Given the description of an element on the screen output the (x, y) to click on. 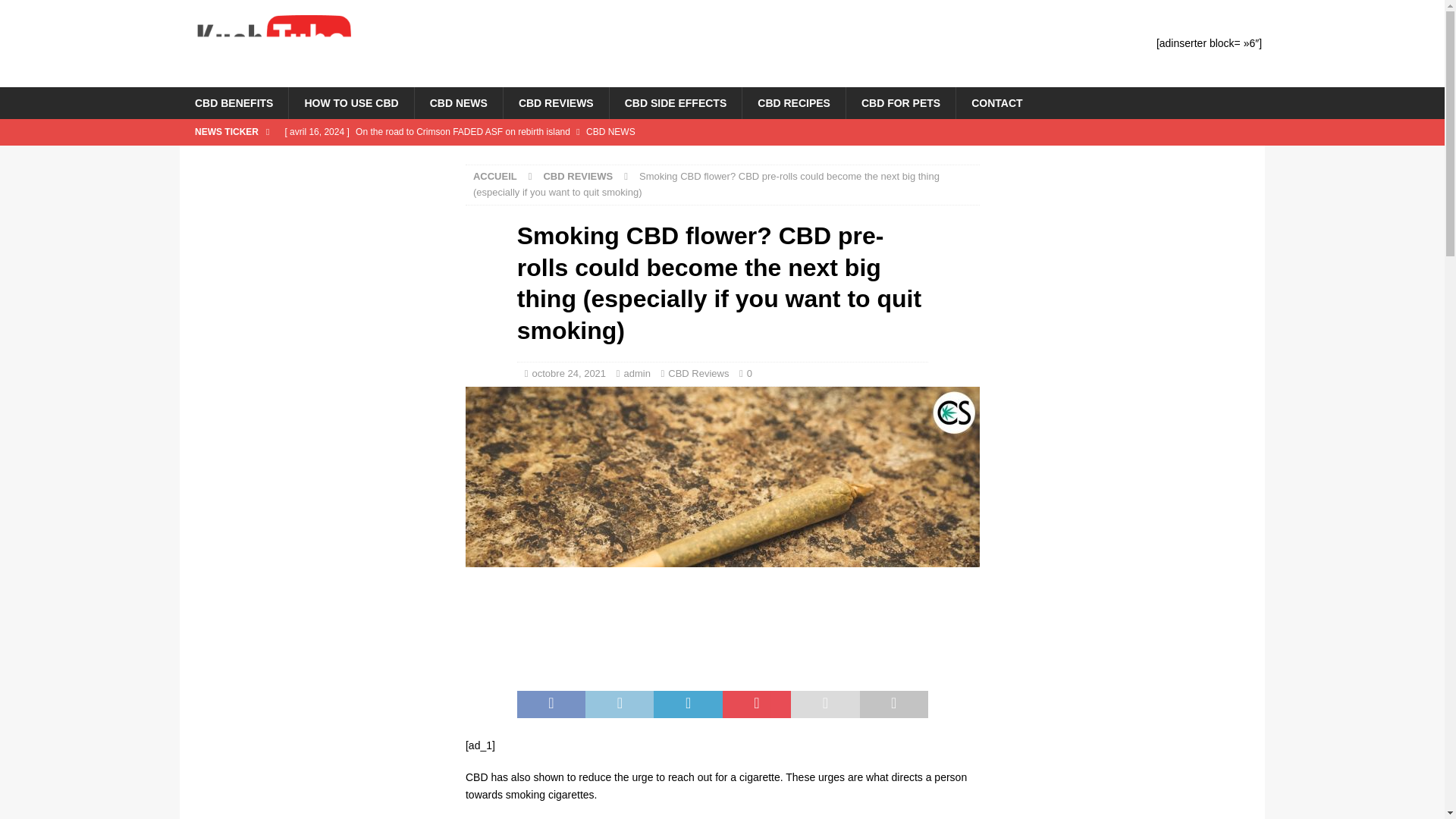
admin (636, 373)
CBD FOR PETS (900, 102)
CBD REVIEWS (577, 175)
CBD Reviews (698, 373)
On the road to Crimson FADED ASF on rebirth island (581, 131)
CBD BENEFITS (233, 102)
CBD SIDE EFFECTS (675, 102)
CBD RECIPES (793, 102)
ACCUEIL (494, 175)
